Given the description of an element on the screen output the (x, y) to click on. 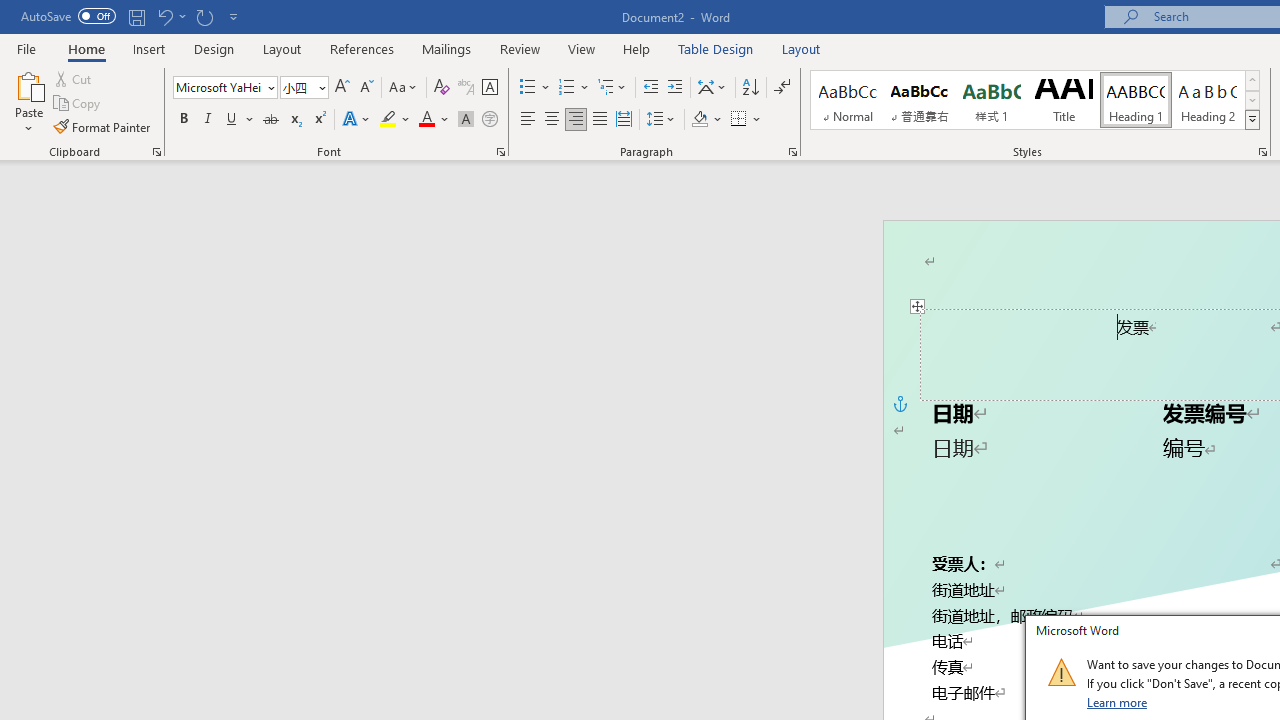
Heading 2 (1208, 100)
